Given the description of an element on the screen output the (x, y) to click on. 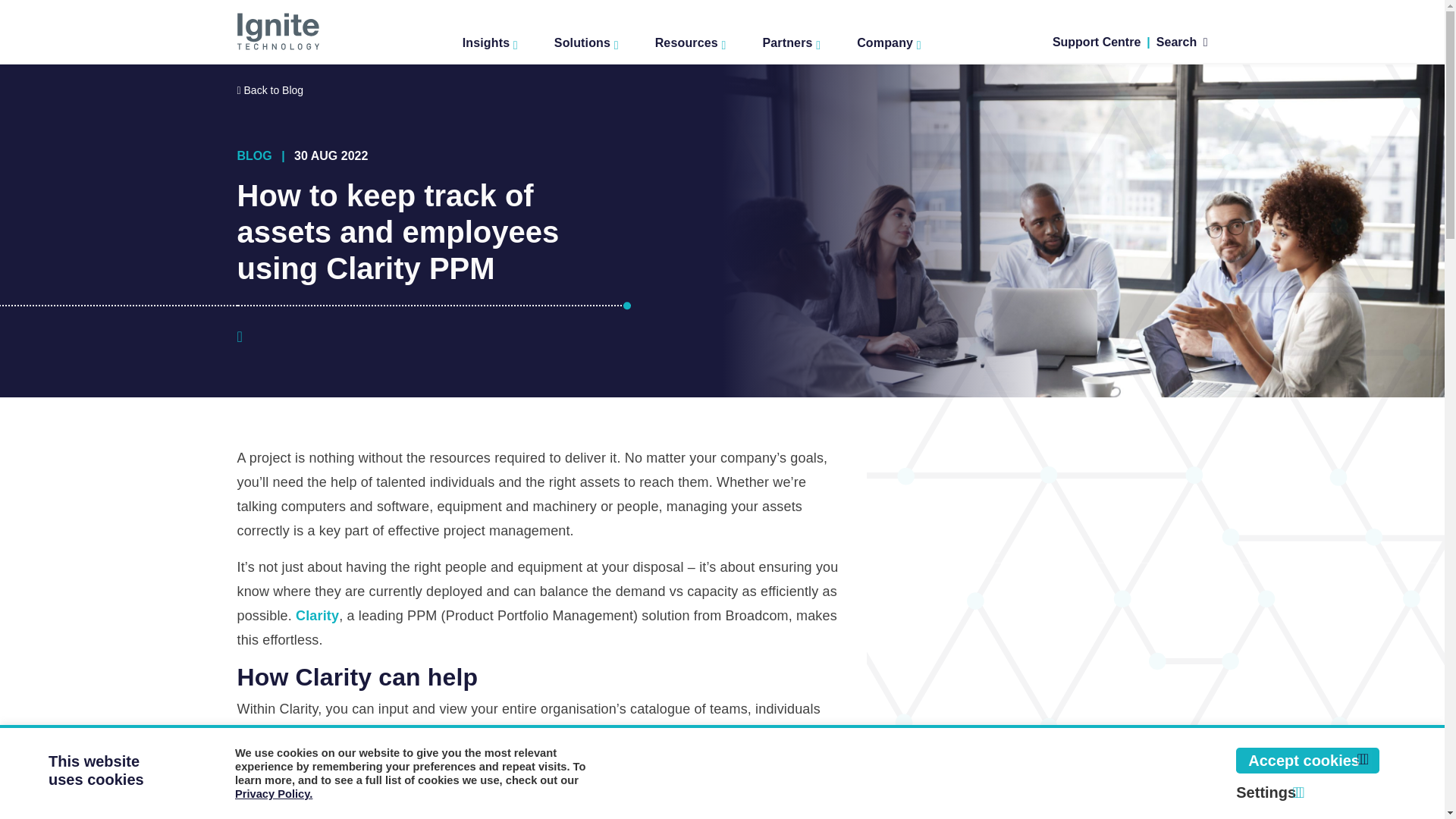
Support Centre (1096, 42)
Insights (489, 39)
Resources (690, 39)
Partners (791, 39)
Company (888, 39)
Solutions (586, 39)
Search (1182, 42)
